Given the description of an element on the screen output the (x, y) to click on. 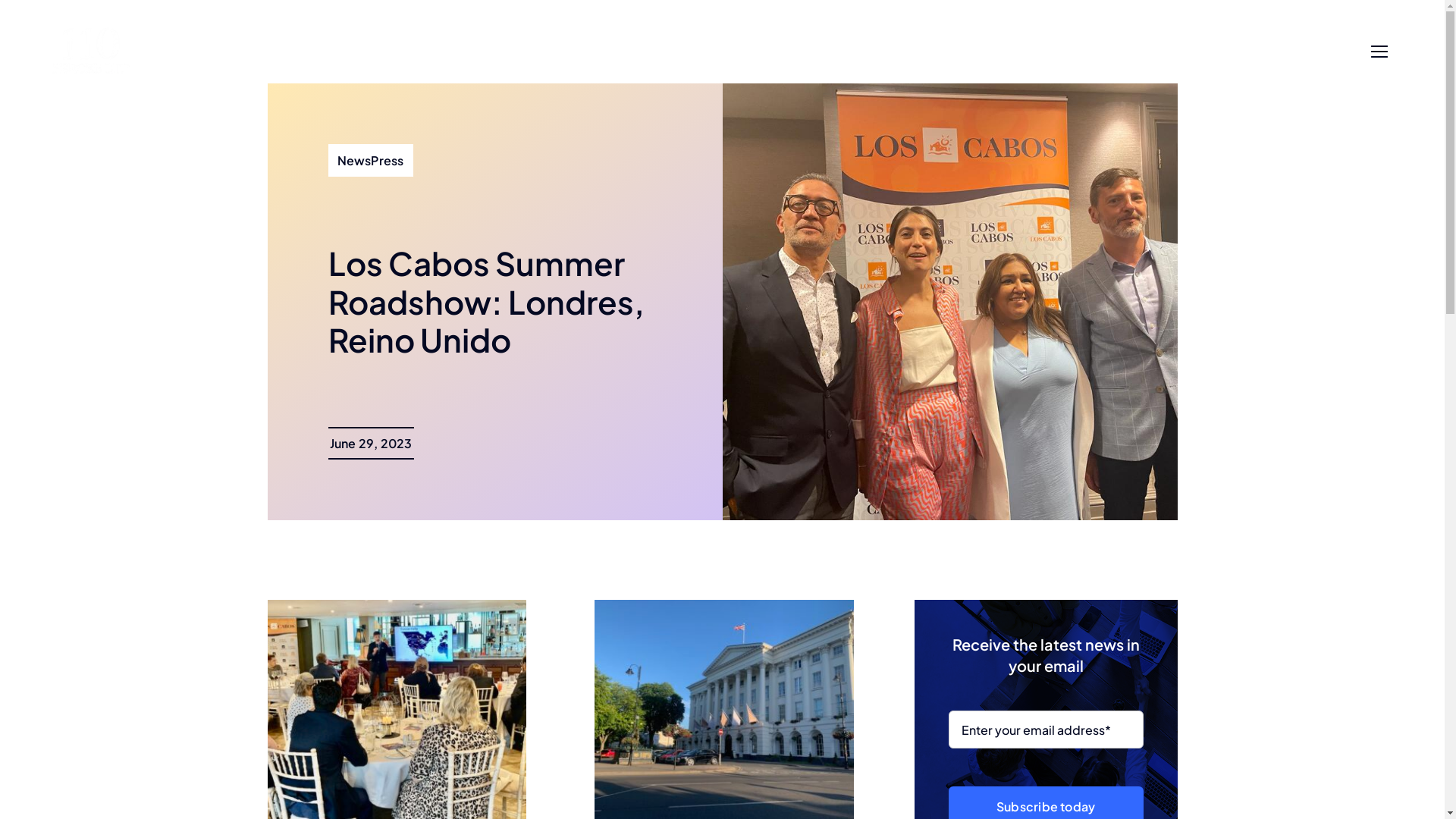
News Element type: text (751, 50)
About us Element type: text (674, 50)
June 29, 2023 Element type: text (370, 442)
Home Element type: text (595, 50)
NewsPress Element type: text (369, 160)
Los Cabos Summer Roadshow: Londres, Reino Unido Element type: text (485, 300)
Contact us today Element type: text (1266, 51)
Contact us Element type: text (834, 50)
